Given the description of an element on the screen output the (x, y) to click on. 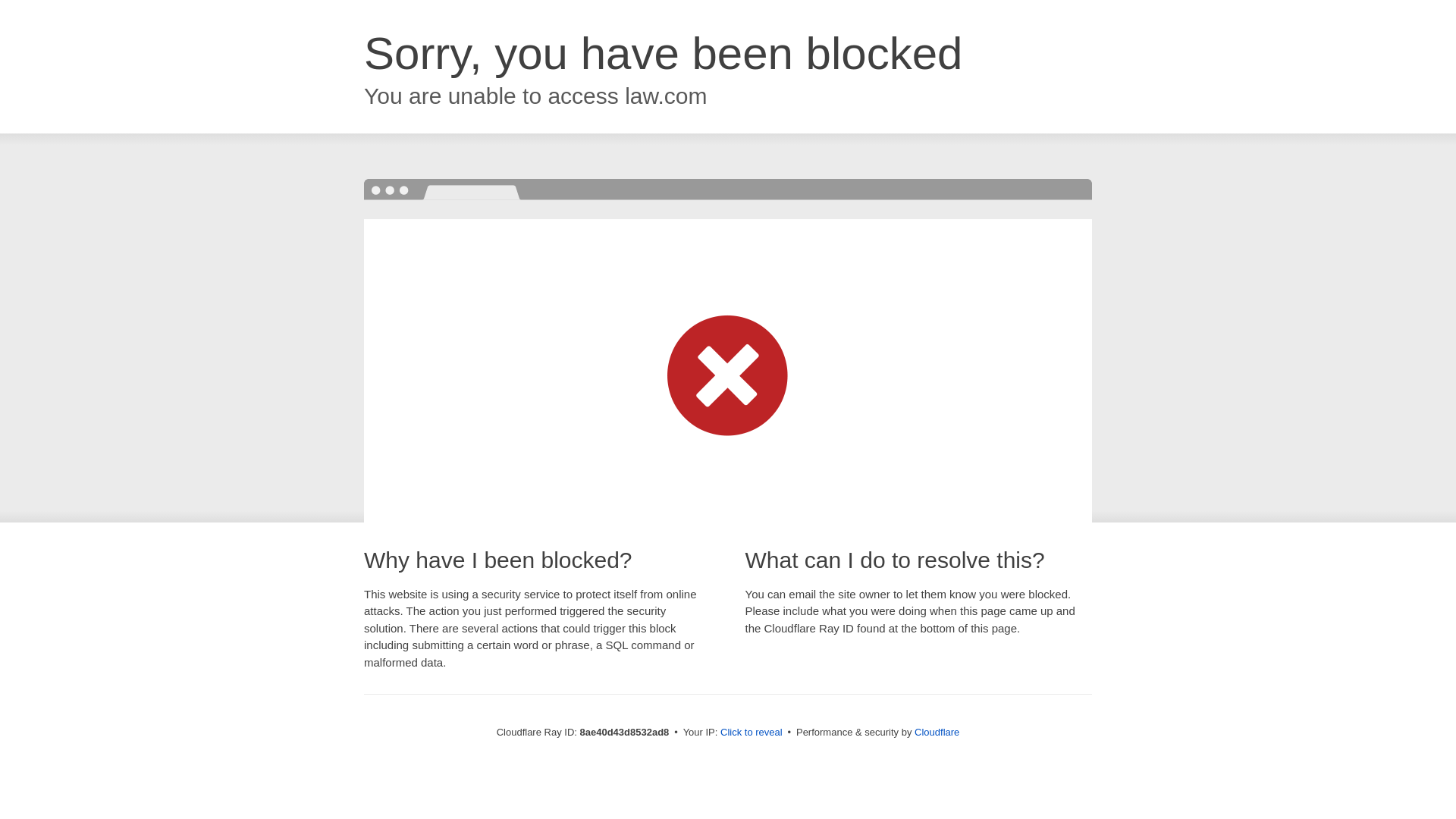
Cloudflare (936, 731)
Click to reveal (751, 732)
